Given the description of an element on the screen output the (x, y) to click on. 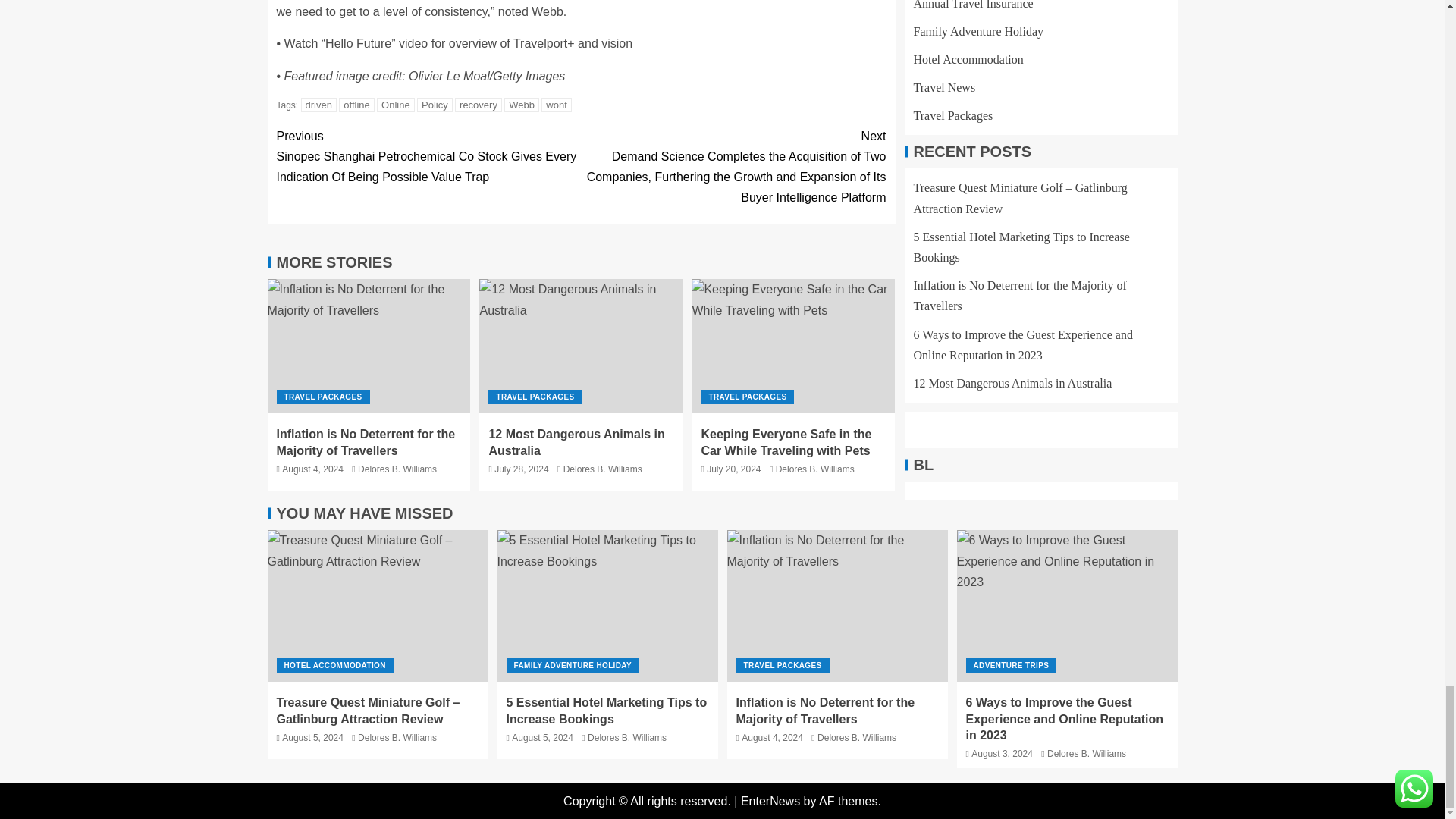
offline (356, 104)
Policy (434, 104)
Keeping Everyone Safe in the Car While Traveling with Pets (793, 346)
12 Most Dangerous Animals in Australia (575, 441)
TRAVEL PACKAGES (533, 396)
Online (395, 104)
12 Most Dangerous Animals in Australia (580, 346)
Webb (520, 104)
5 Essential Hotel Marketing Tips to Increase Bookings (607, 605)
